Given the description of an element on the screen output the (x, y) to click on. 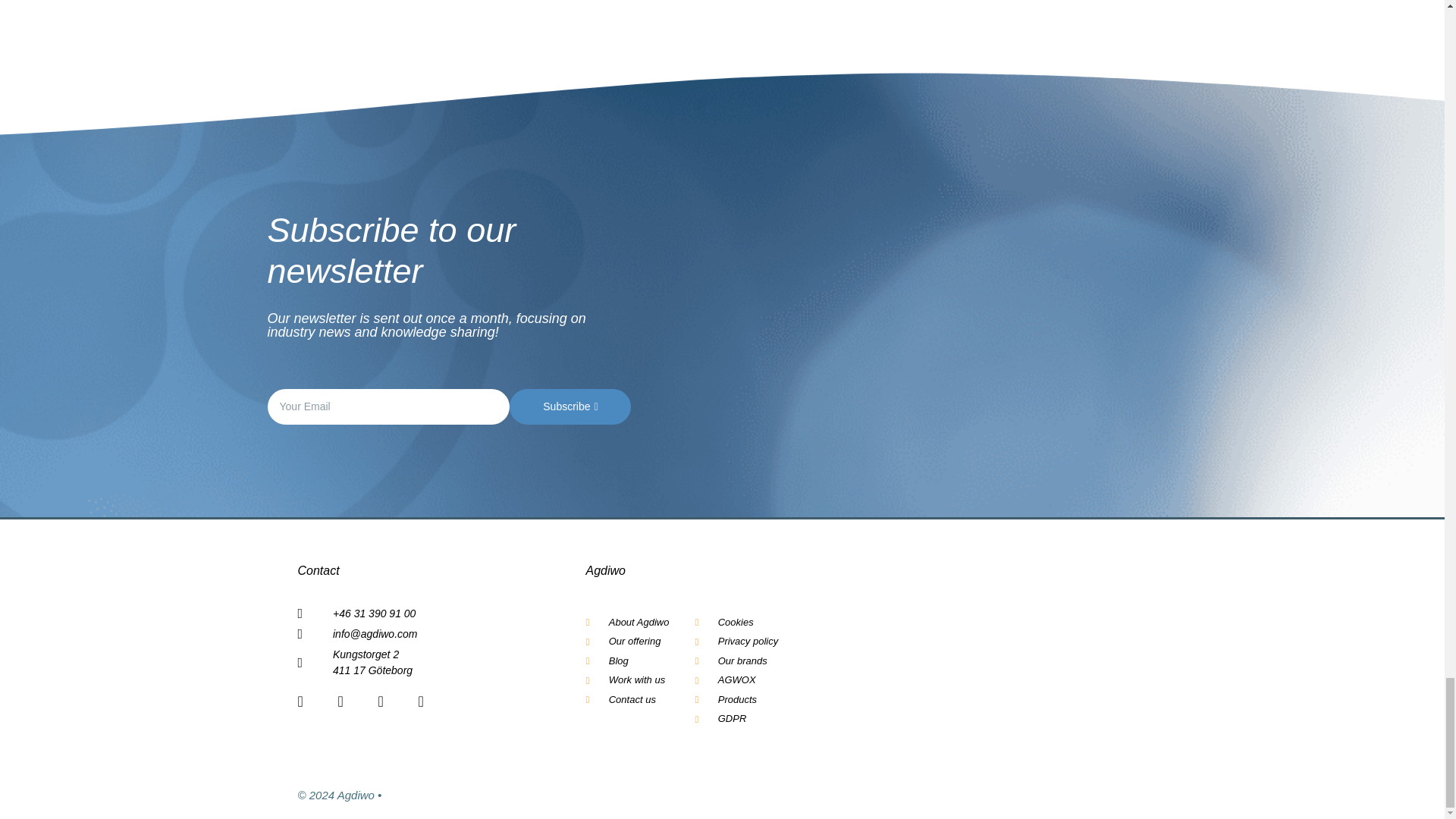
Subscribe (569, 407)
